Given the description of an element on the screen output the (x, y) to click on. 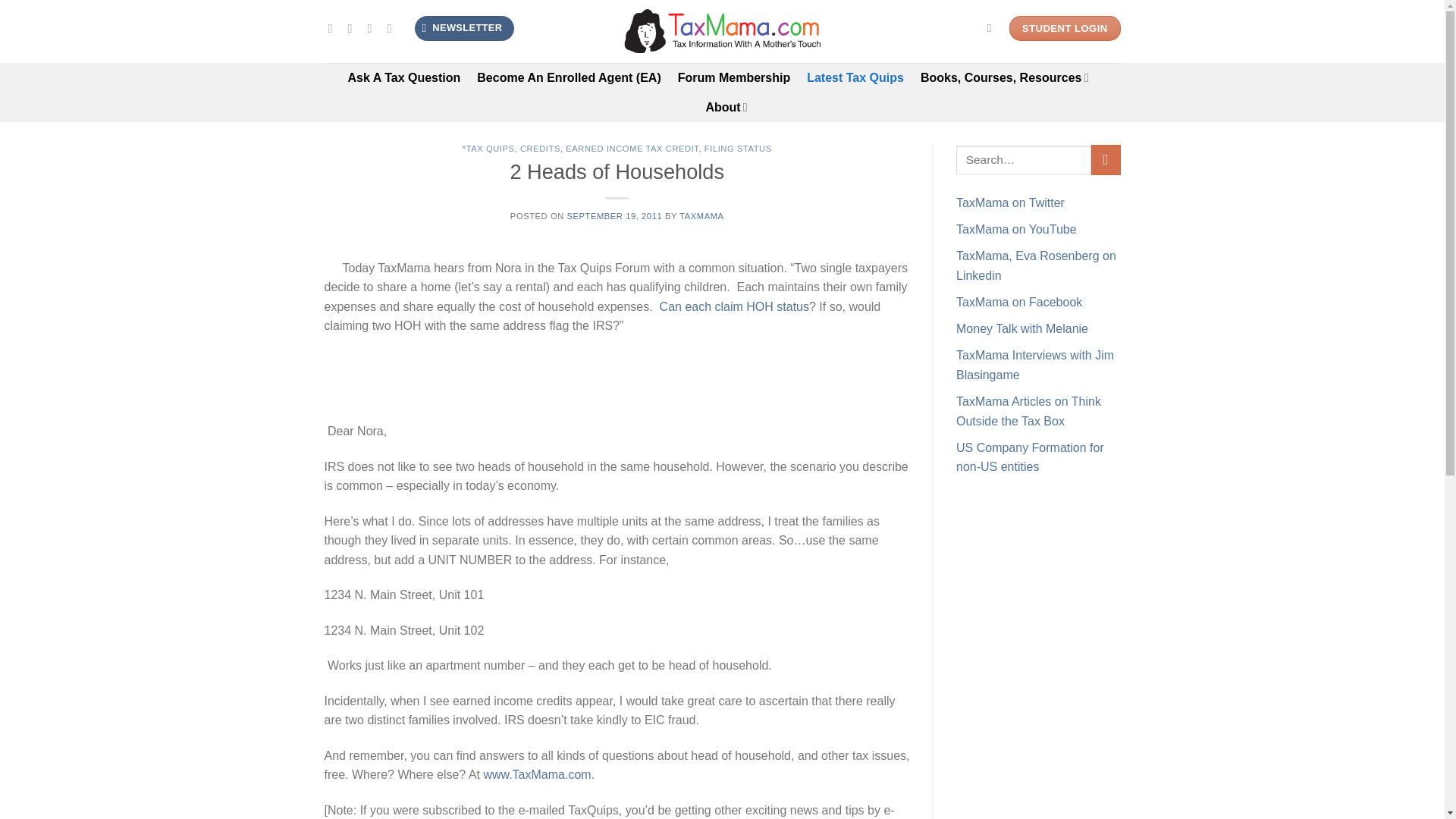
Sign up for Our Newsletter (463, 27)
SEPTEMBER 19, 2011 (614, 215)
Follow on YouTube (392, 28)
Ask A Tax Question (404, 77)
Books, Courses, Resources (1004, 77)
EARNED INCOME TAX CREDIT (632, 148)
NEWSLETTER (463, 27)
About (725, 107)
FILING STATUS (737, 148)
Follow on LinkedIn (374, 28)
Follow on Facebook (333, 28)
Follow on Twitter (353, 28)
Latest Tax Quips (855, 77)
CREDITS (539, 148)
www.TaxMama.com (537, 774)
